Given the description of an element on the screen output the (x, y) to click on. 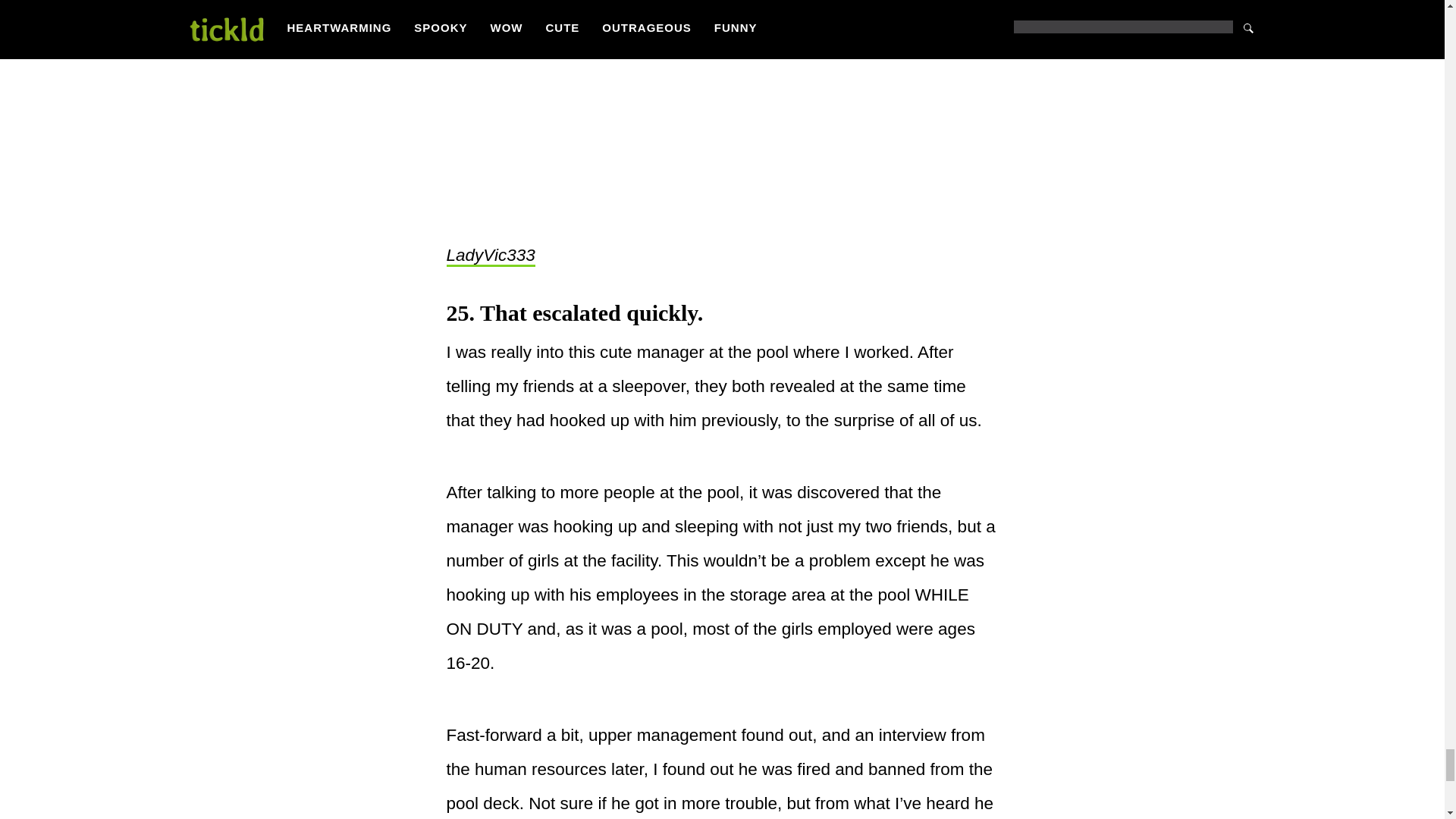
LadyVic333 (489, 255)
